Given the description of an element on the screen output the (x, y) to click on. 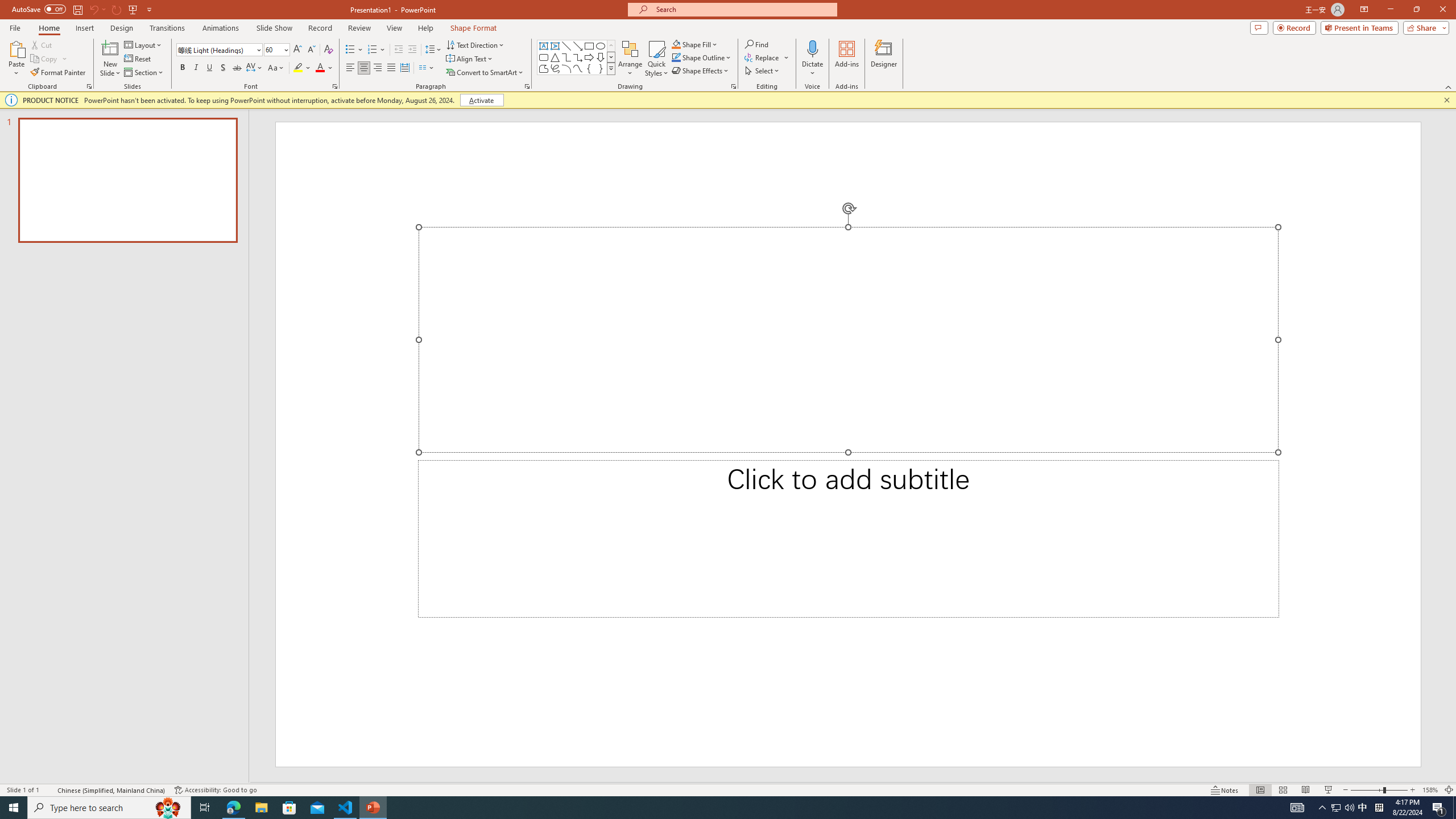
Dictate (812, 48)
Find... (756, 44)
Zoom In (1412, 790)
Help (425, 28)
